Given the description of an element on the screen output the (x, y) to click on. 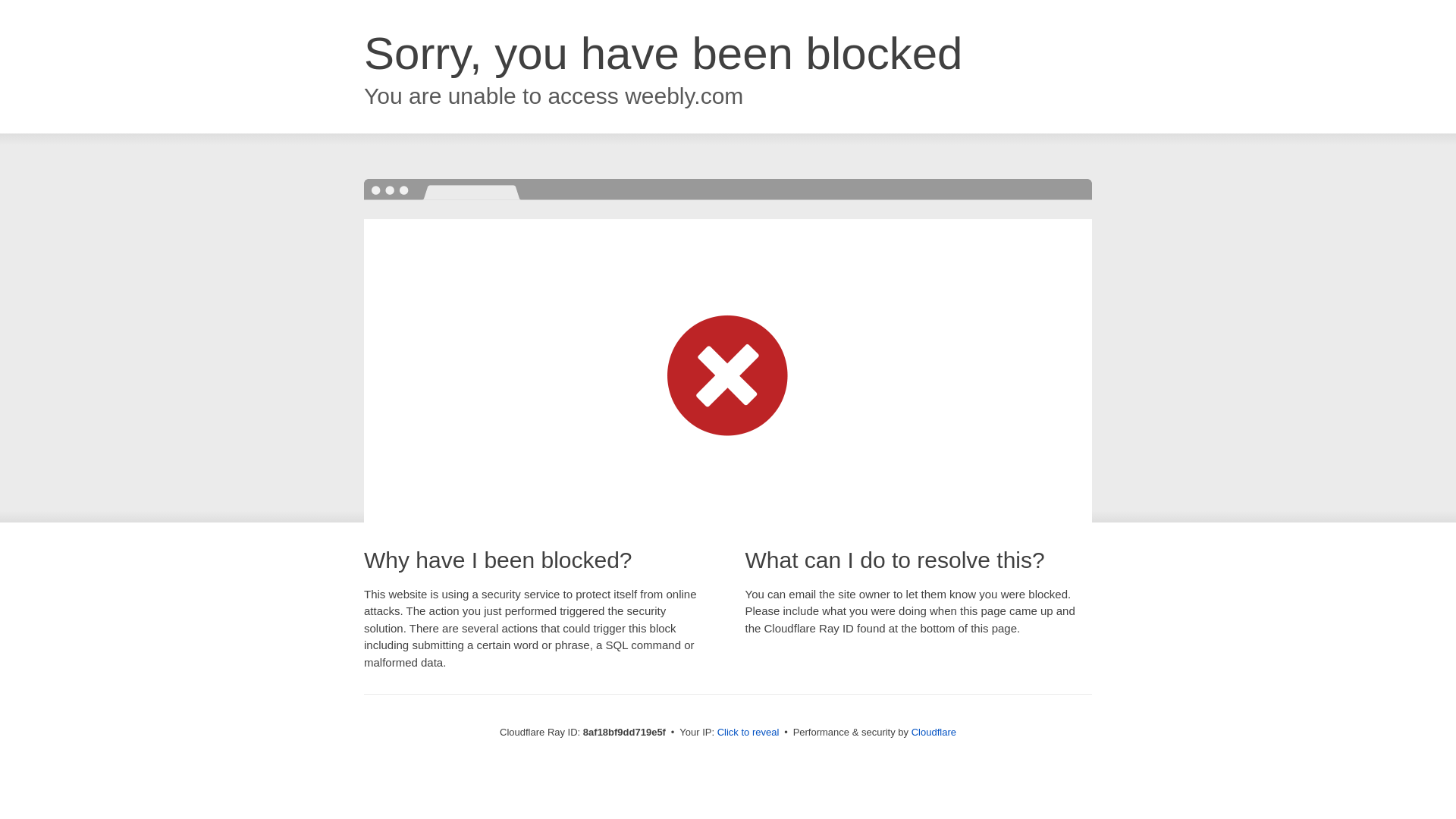
Click to reveal (747, 732)
Cloudflare (933, 731)
